Given the description of an element on the screen output the (x, y) to click on. 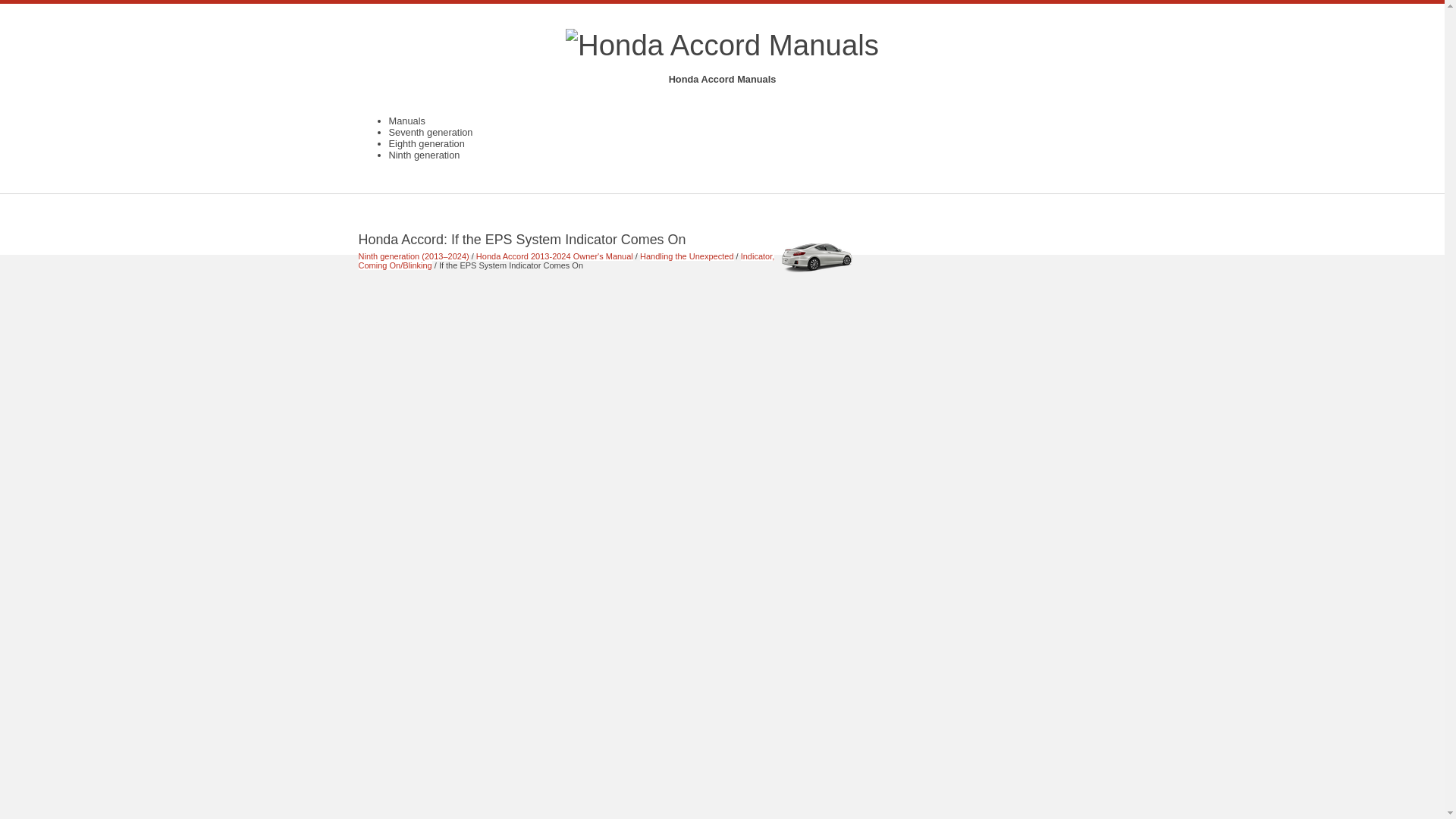
Ninth generation (424, 154)
Eighth generation (426, 143)
Seventh generation (429, 132)
Manuals (406, 120)
Honda Accord 2013-2024 Owner's Manual (554, 256)
Handling the Unexpected (686, 256)
